Given the description of an element on the screen output the (x, y) to click on. 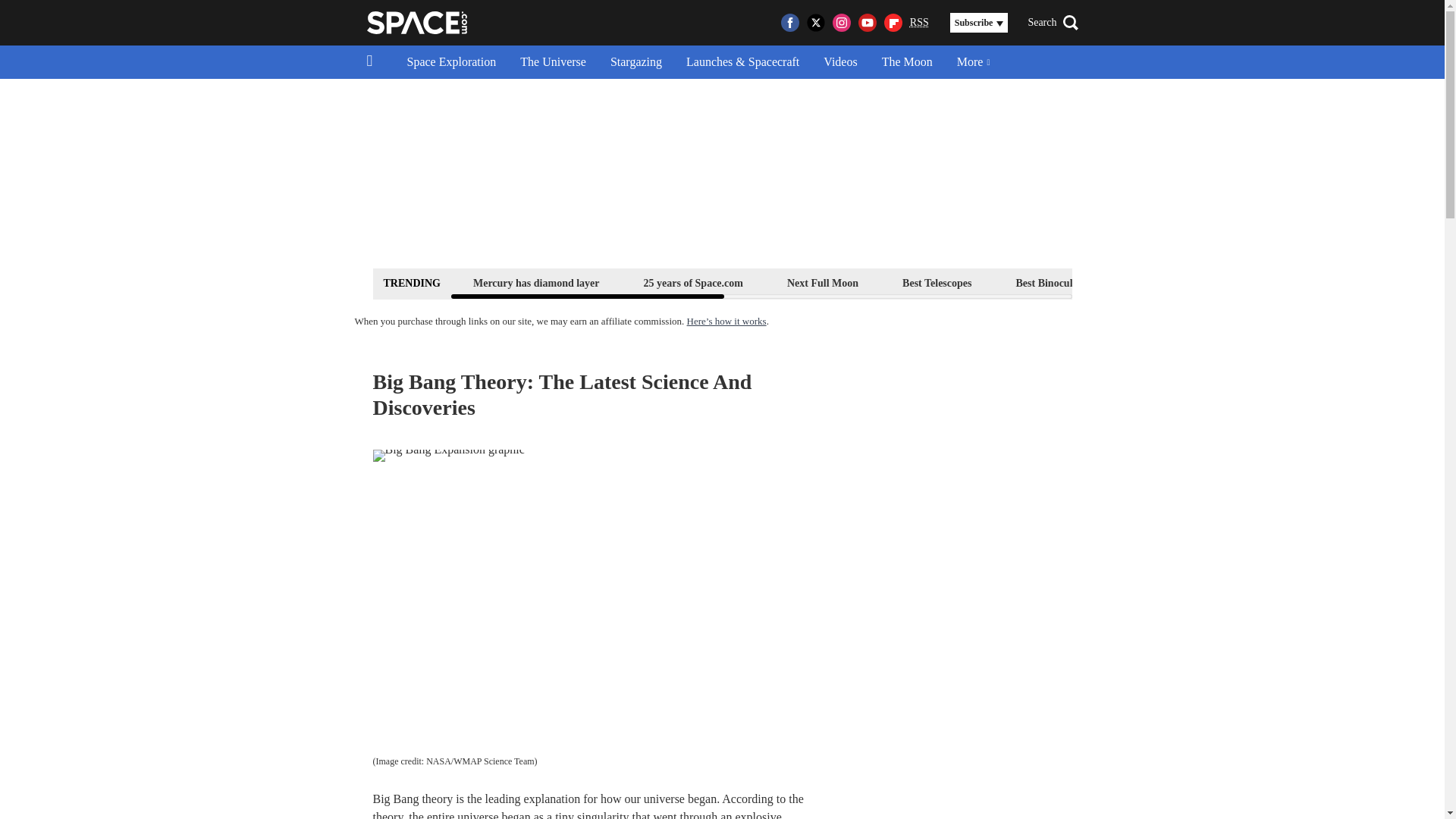
Best Telescopes (936, 282)
Really Simple Syndication (919, 21)
The Universe (553, 61)
Videos (839, 61)
Stargazing (636, 61)
Mercury has diamond layer (536, 282)
Next Full Moon (822, 282)
Best Binoculars (1051, 282)
Best Star Projectors (1176, 282)
25 years of Space.com (693, 282)
RSS (919, 22)
The Moon (906, 61)
Space Calendar (1301, 282)
Space Exploration (451, 61)
